Given the description of an element on the screen output the (x, y) to click on. 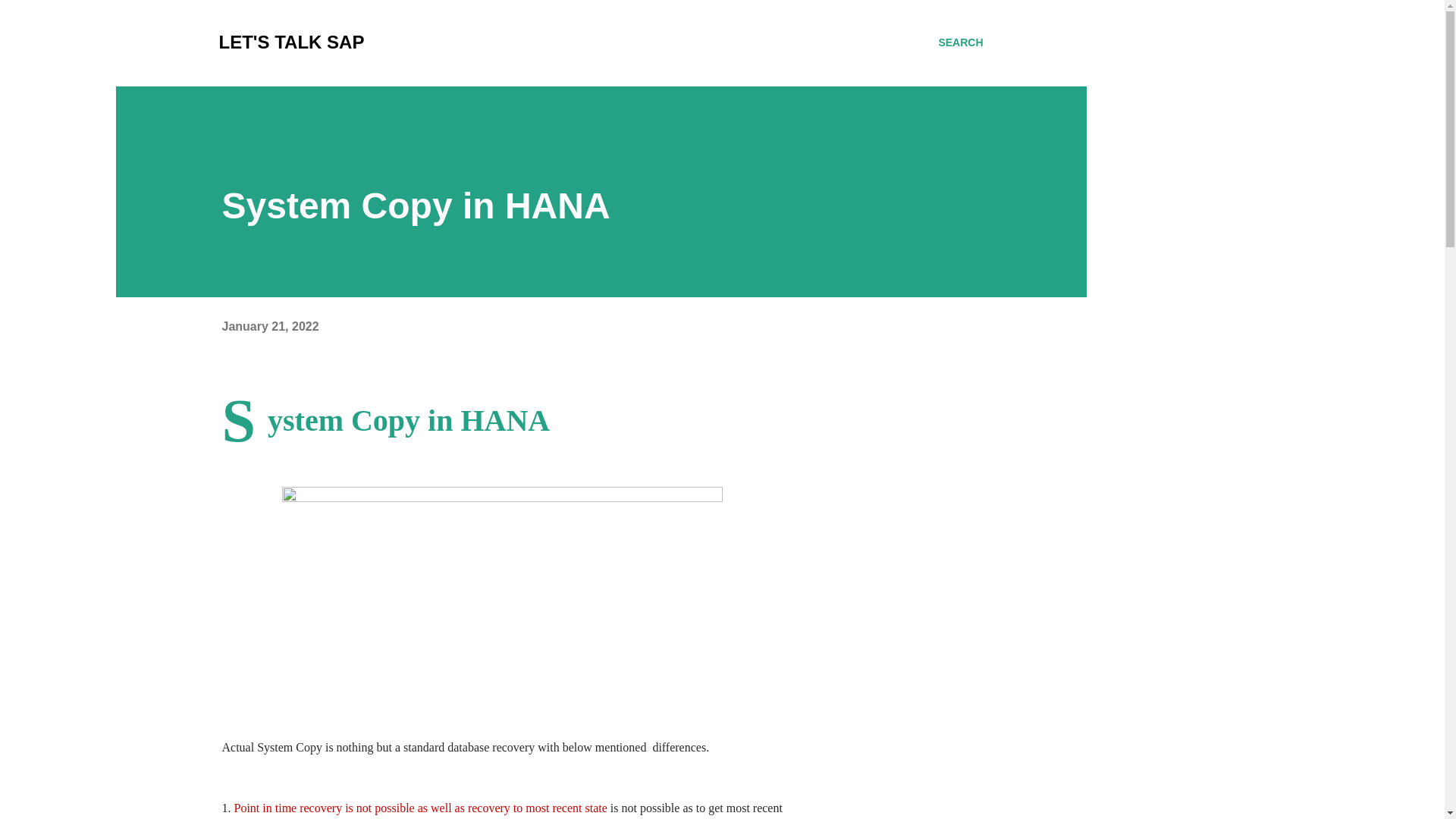
LET'S TALK SAP (291, 41)
SEARCH (959, 42)
permanent link (269, 326)
January 21, 2022 (269, 326)
